Given the description of an element on the screen output the (x, y) to click on. 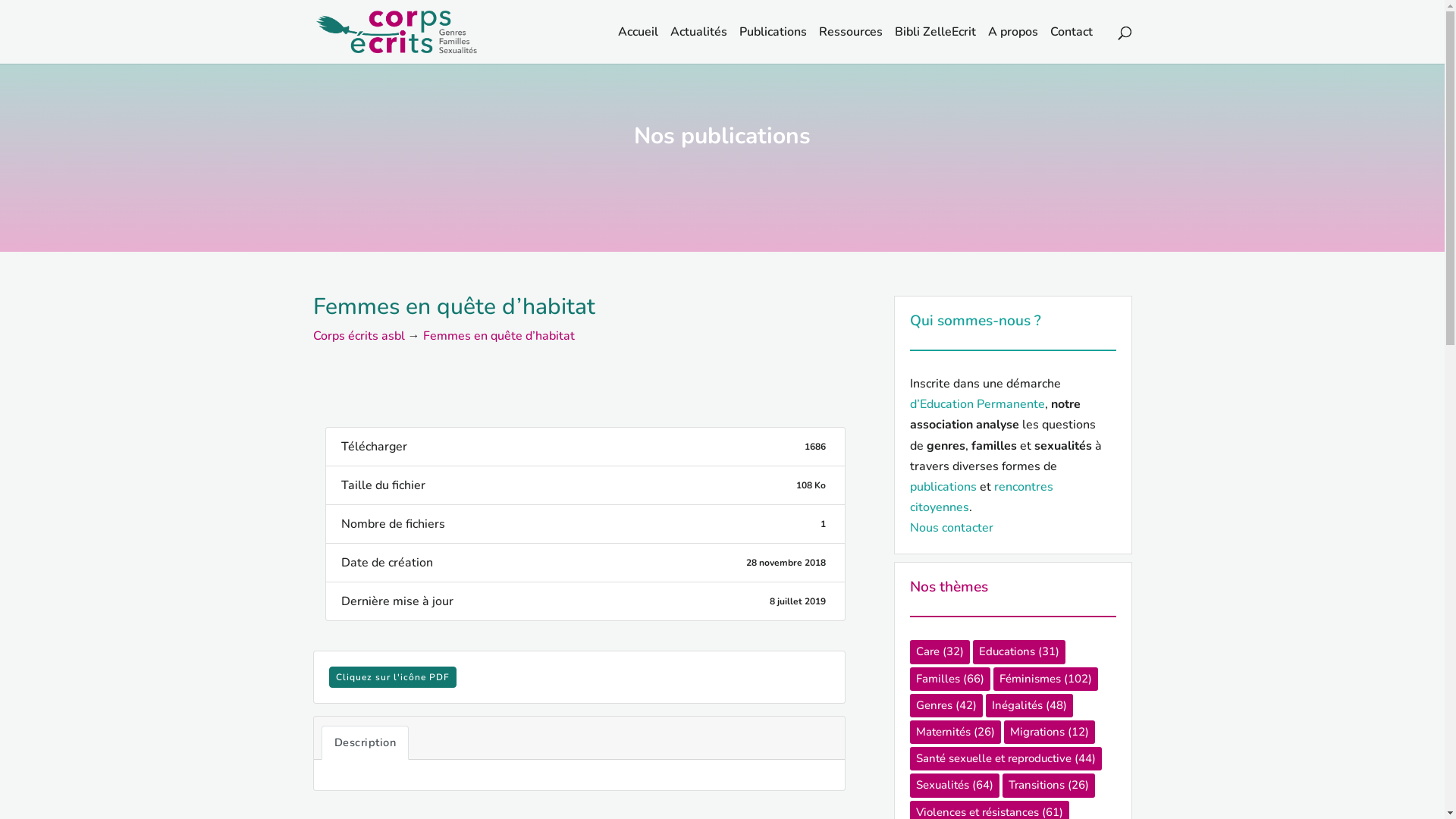
Nous contacter Element type: text (951, 527)
Description Element type: text (365, 742)
Familles (66) Element type: text (950, 678)
Contact Element type: text (1070, 44)
Ressources Element type: text (850, 44)
Bibli ZelleEcrit Element type: text (934, 44)
Transitions (26) Element type: text (1048, 785)
publications Element type: text (943, 486)
Care (32) Element type: text (939, 651)
rencontres citoyennes Element type: text (981, 496)
Educations (31) Element type: text (1018, 651)
Publications Element type: text (772, 44)
Genres (42) Element type: text (946, 705)
A propos Element type: text (1012, 44)
Accueil Element type: text (637, 44)
Migrations (12) Element type: text (1049, 731)
